Given the description of an element on the screen output the (x, y) to click on. 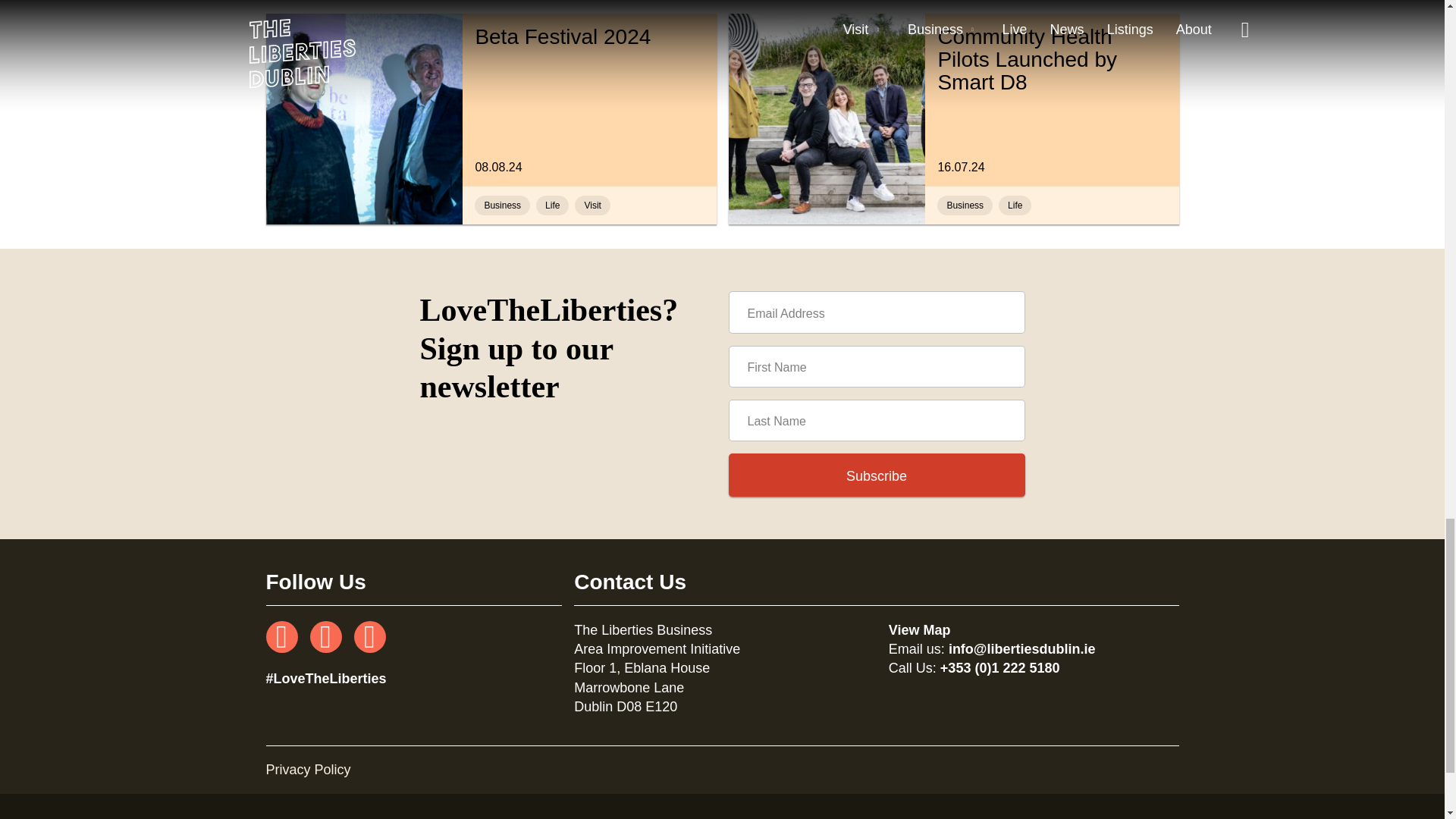
Business (501, 205)
First Name (876, 366)
Last Name (876, 420)
Visit (592, 205)
Life (552, 205)
Life (1050, 99)
Email Address (1014, 205)
Subscribe (876, 311)
